Given the description of an element on the screen output the (x, y) to click on. 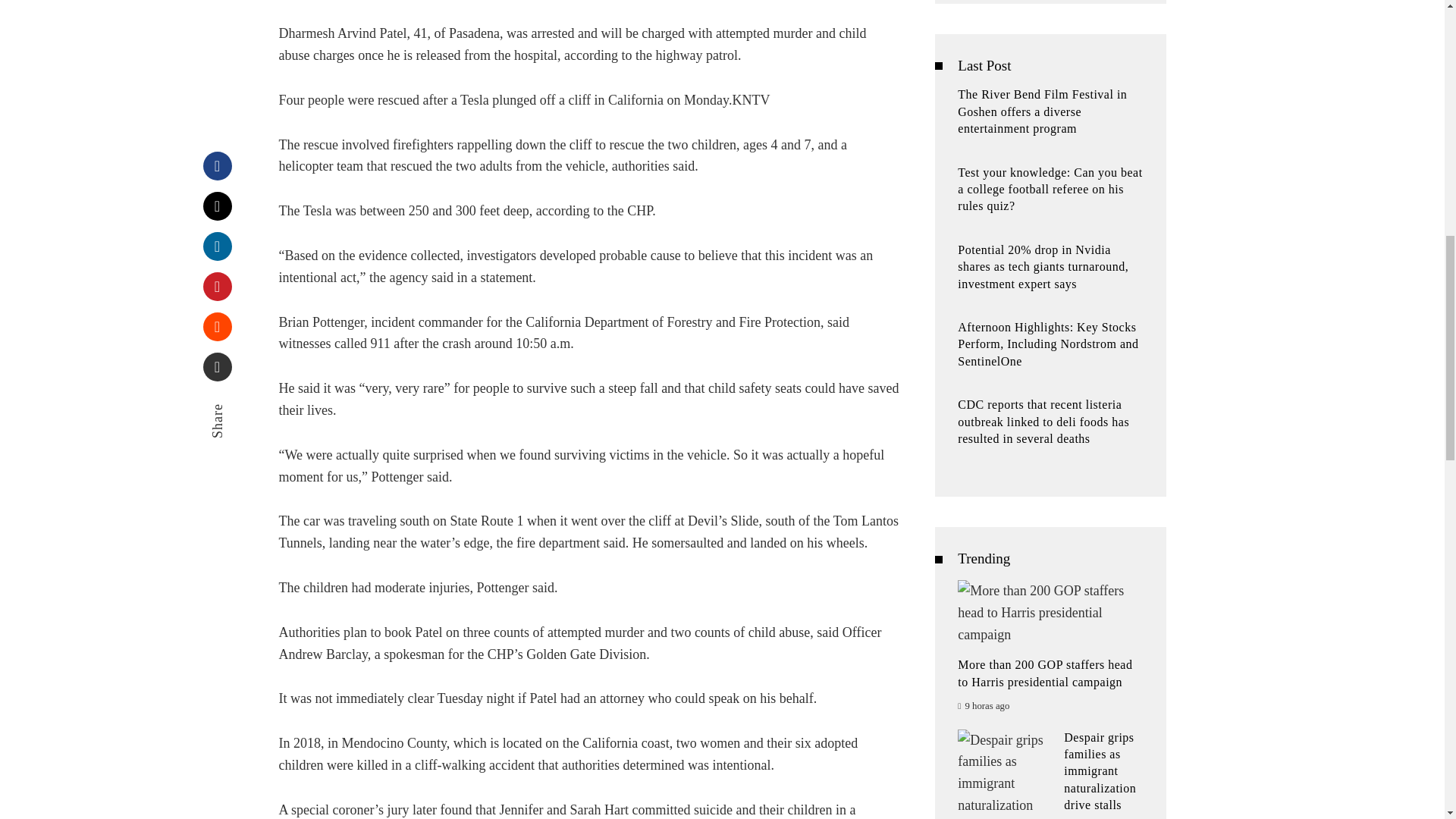
Pinterest (217, 24)
Stumbleupon (217, 64)
Email (217, 104)
